Given the description of an element on the screen output the (x, y) to click on. 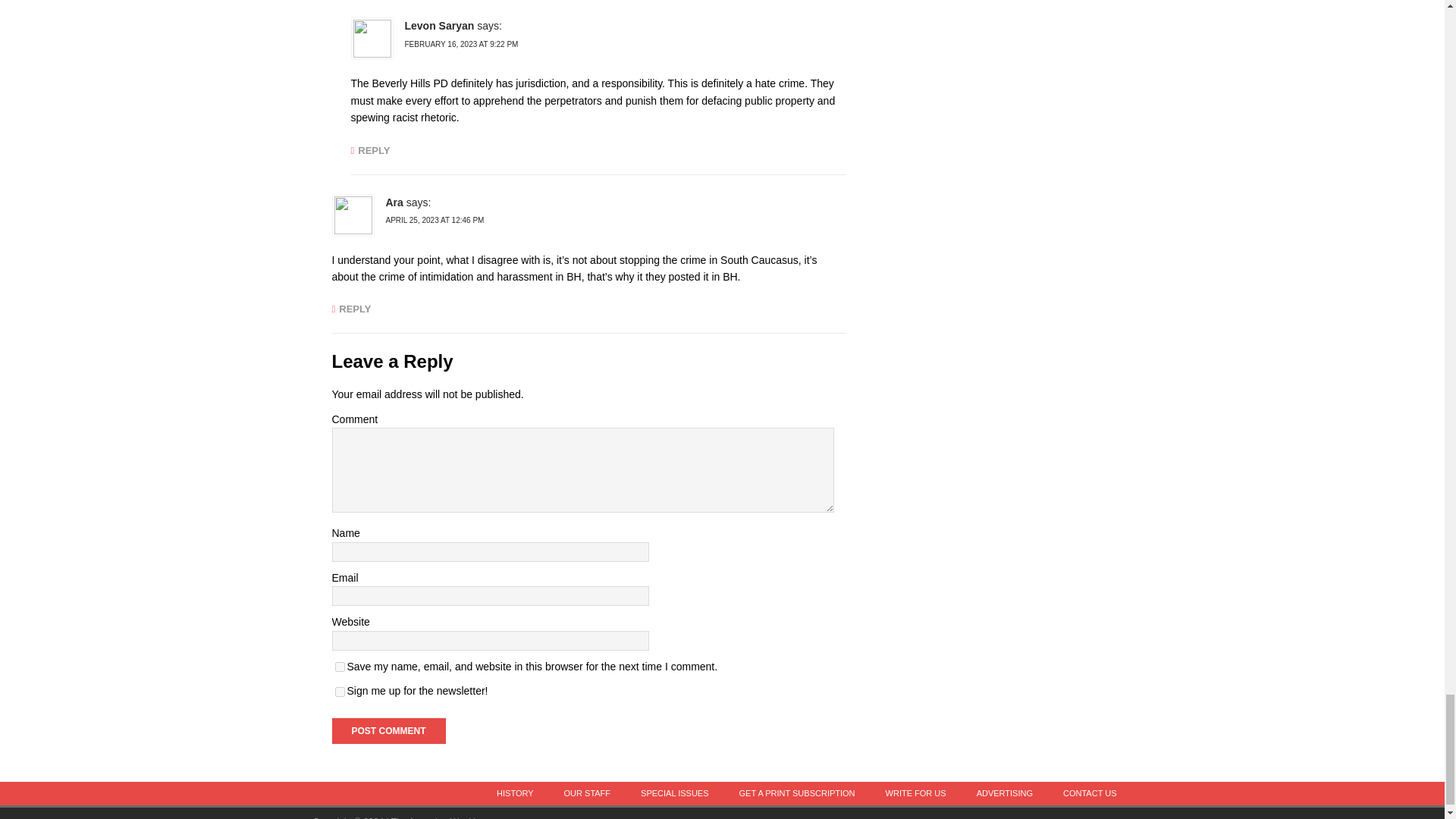
Post Comment (388, 730)
1 (339, 691)
yes (339, 666)
